Given the description of an element on the screen output the (x, y) to click on. 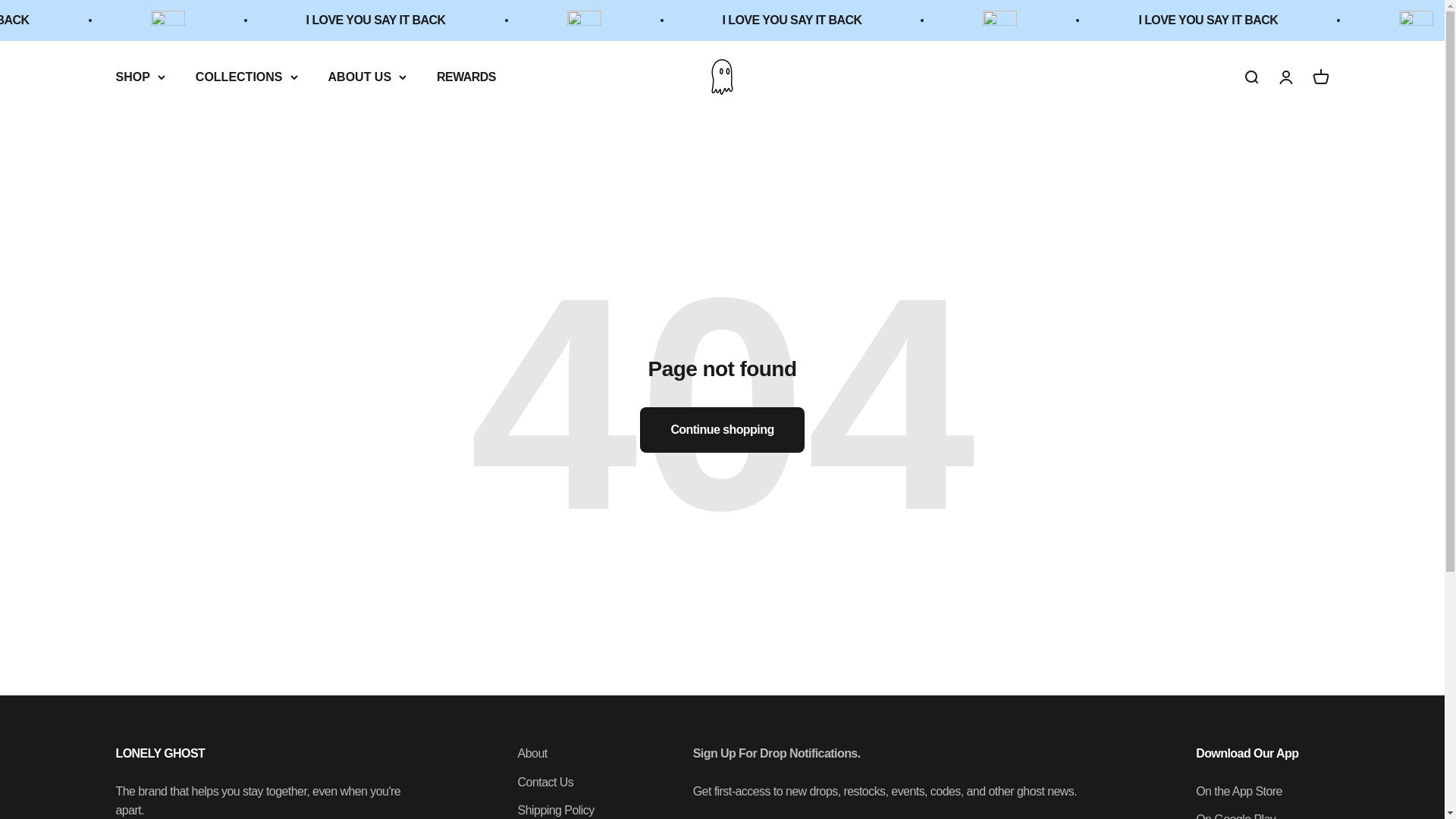
Open account page (1285, 76)
LONELY GHOST (722, 76)
SHOP (139, 76)
ABOUT US (368, 76)
REWARDS (466, 75)
Open cart (1319, 76)
COLLECTIONS (246, 76)
Open search (1250, 76)
